Given the description of an element on the screen output the (x, y) to click on. 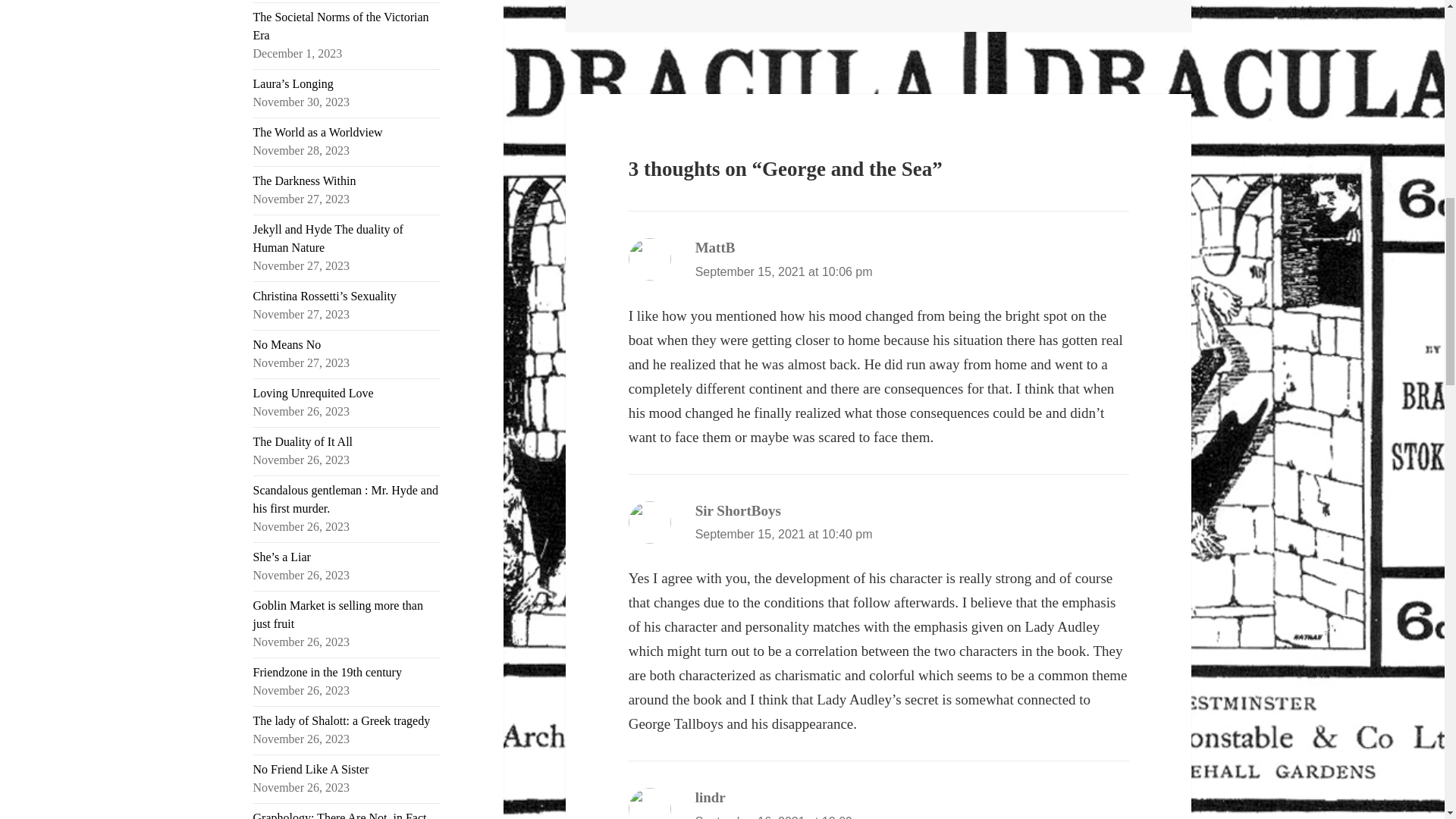
Jekyll and Hyde The duality of Human Nature (328, 237)
Friendzone in the 19th century (327, 671)
The Darkness Within (304, 180)
The lady of Shalott: a Greek tragedy (341, 720)
Loving Unrequited Love (313, 392)
No Means No (287, 344)
The Societal Norms of the Victorian Era (341, 25)
Scandalous gentleman : Mr. Hyde and his first murder. (345, 499)
The World as a Worldview (317, 132)
The Duality of It All (303, 440)
No Friend Like A Sister (311, 768)
Goblin Market is selling more than just fruit (338, 613)
Graphology: There Are Not, in Fact, Two Wolves Inside of You (341, 815)
